Given the description of an element on the screen output the (x, y) to click on. 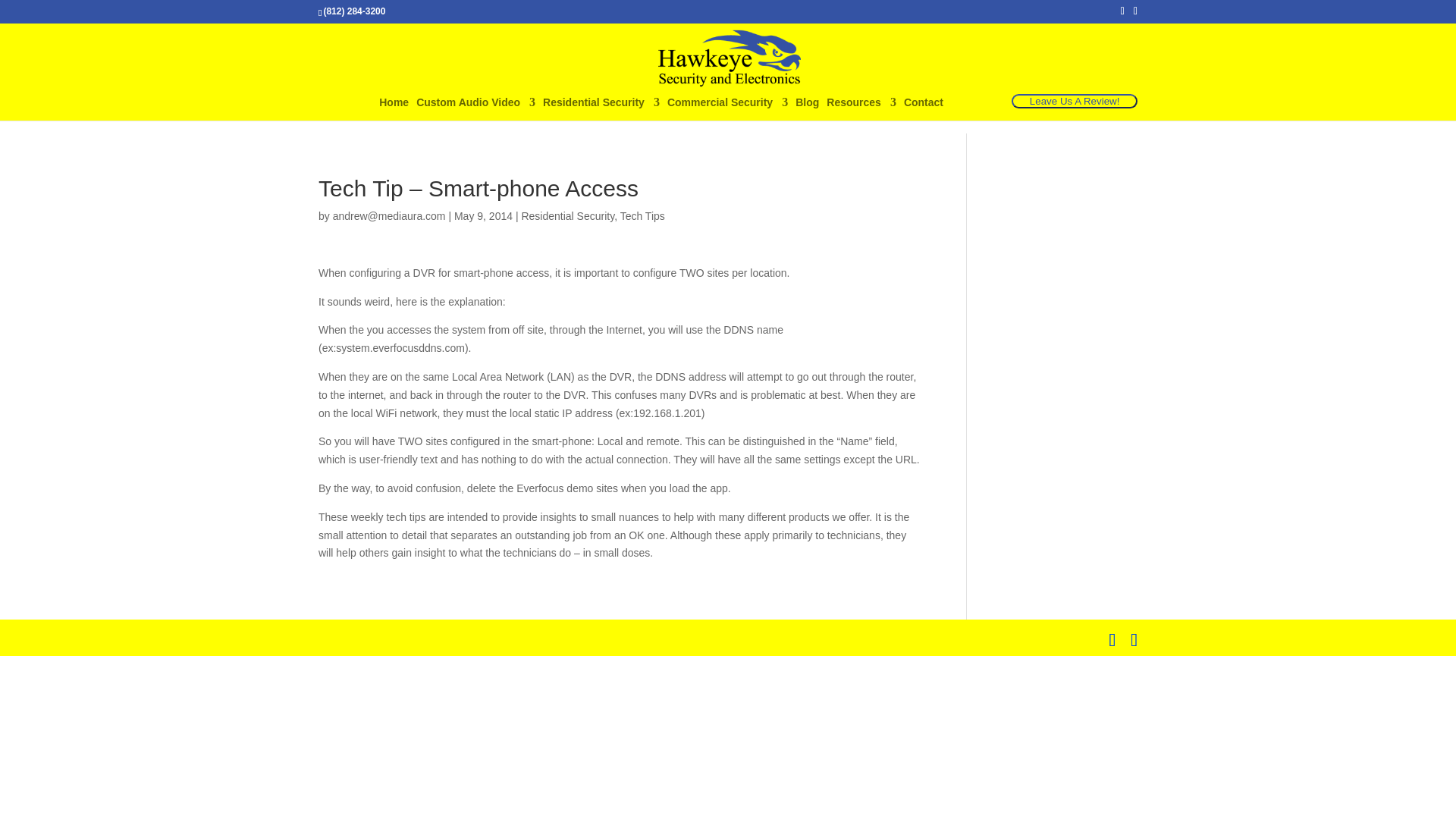
Residential Security (601, 108)
Home (393, 108)
Leave Us A Review! (1074, 101)
Leave Us A Review! (1074, 101)
Custom Audio Video (475, 108)
